Given the description of an element on the screen output the (x, y) to click on. 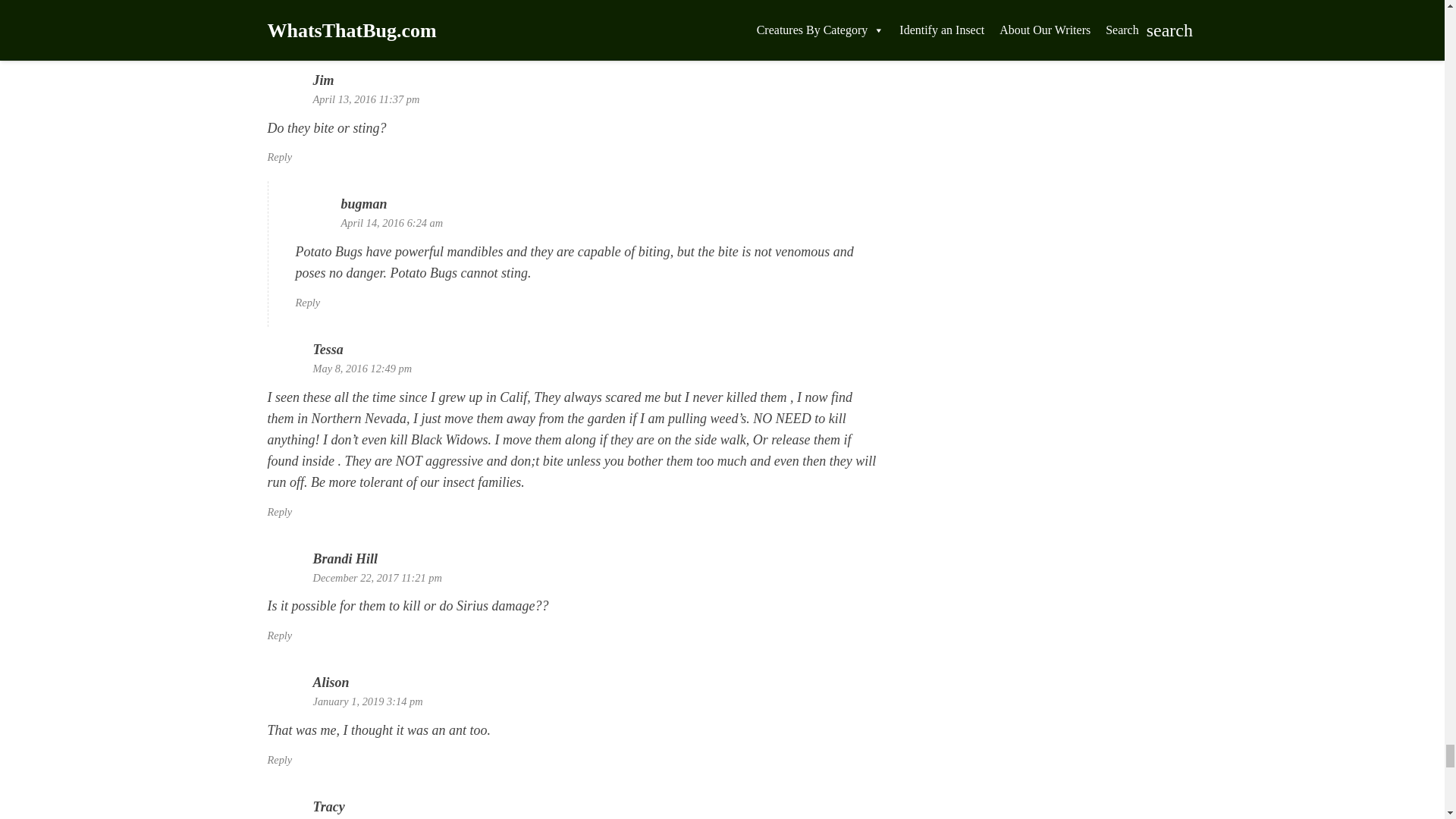
January 1, 2019 3:14 pm (367, 701)
May 8, 2016 12:49 pm (362, 368)
December 22, 2017 11:21 pm (377, 577)
April 14, 2016 6:24 am (392, 223)
April 13, 2016 11:37 pm (366, 99)
